Given the description of an element on the screen output the (x, y) to click on. 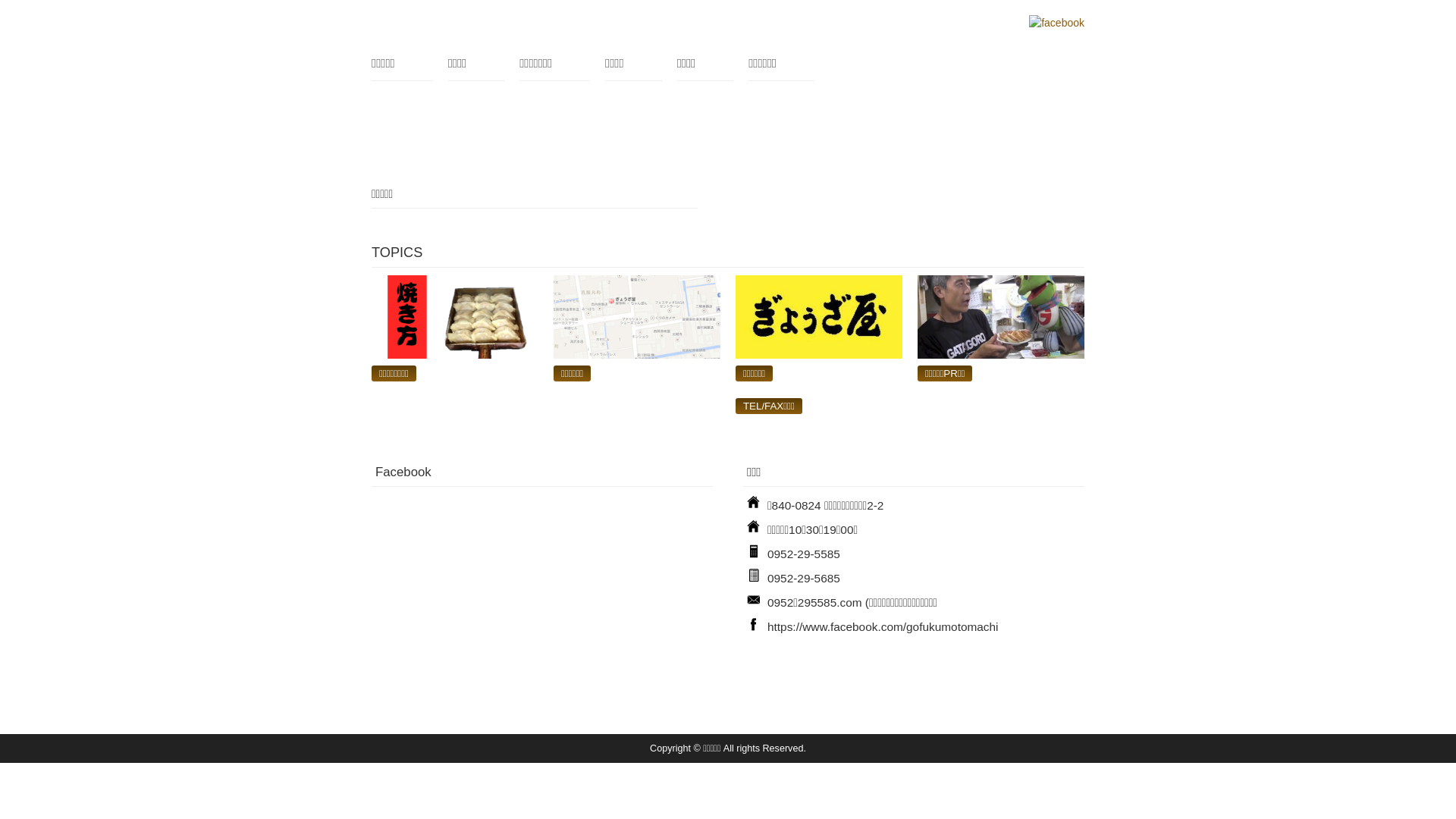
https://www.facebook.com/gofukumotomachi Element type: text (882, 626)
